Given the description of an element on the screen output the (x, y) to click on. 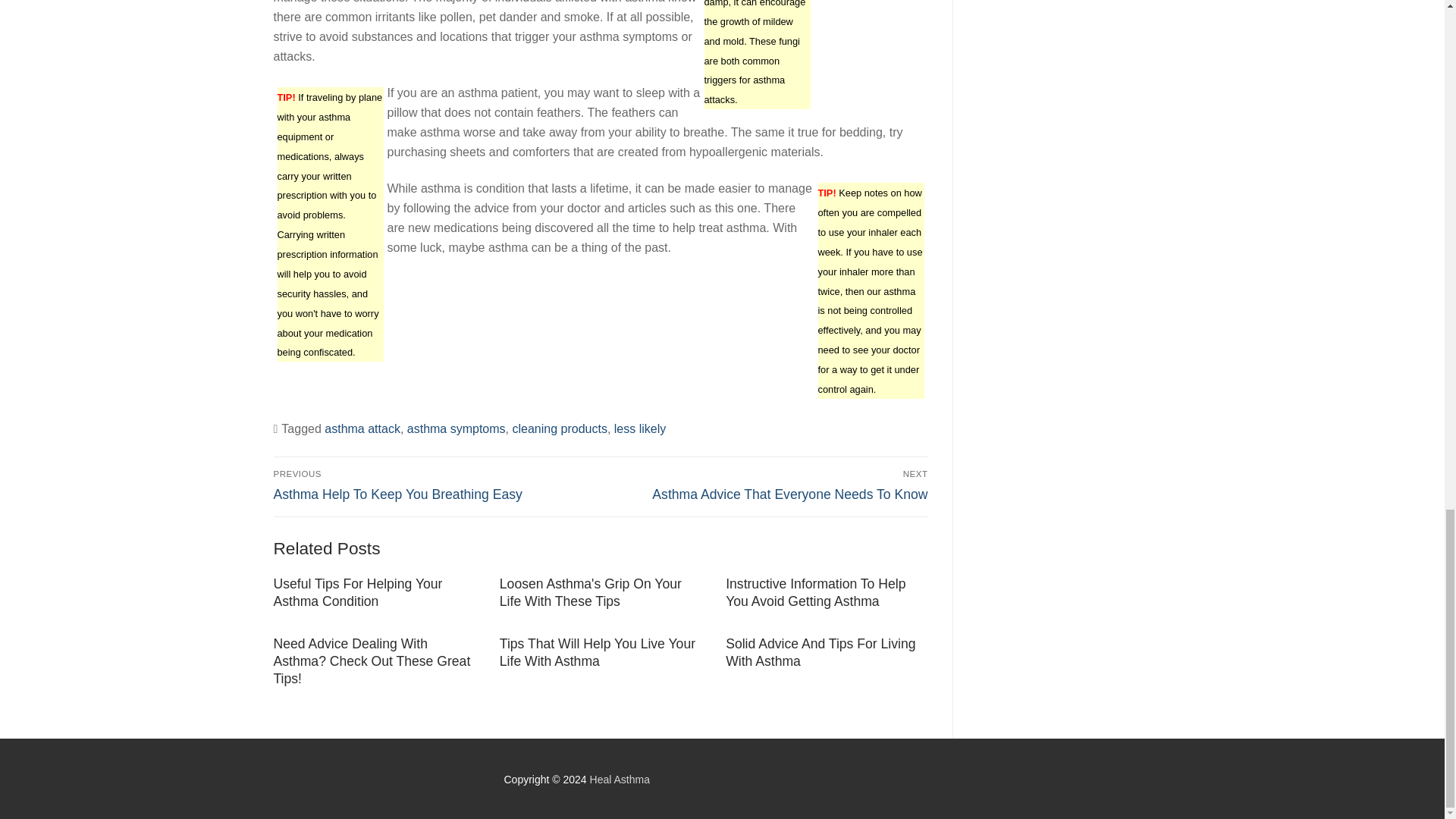
Tips That Will Help You Live Your Life With Asthma (597, 652)
Loosen Asthma's Grip On Your Life With These Tips (590, 592)
Need Advice Dealing With Asthma? Check Out These Great Tips! (371, 661)
Instructive Information To Help You Avoid Getting Asthma (815, 592)
asthma symptoms (456, 428)
Useful Tips For Helping Your Asthma Condition (357, 592)
Need Advice Dealing With Asthma? Check Out These Great Tips! (371, 661)
cleaning products (559, 428)
Solid Advice And Tips For Living With Asthma (820, 652)
asthma attack (362, 428)
